Given the description of an element on the screen output the (x, y) to click on. 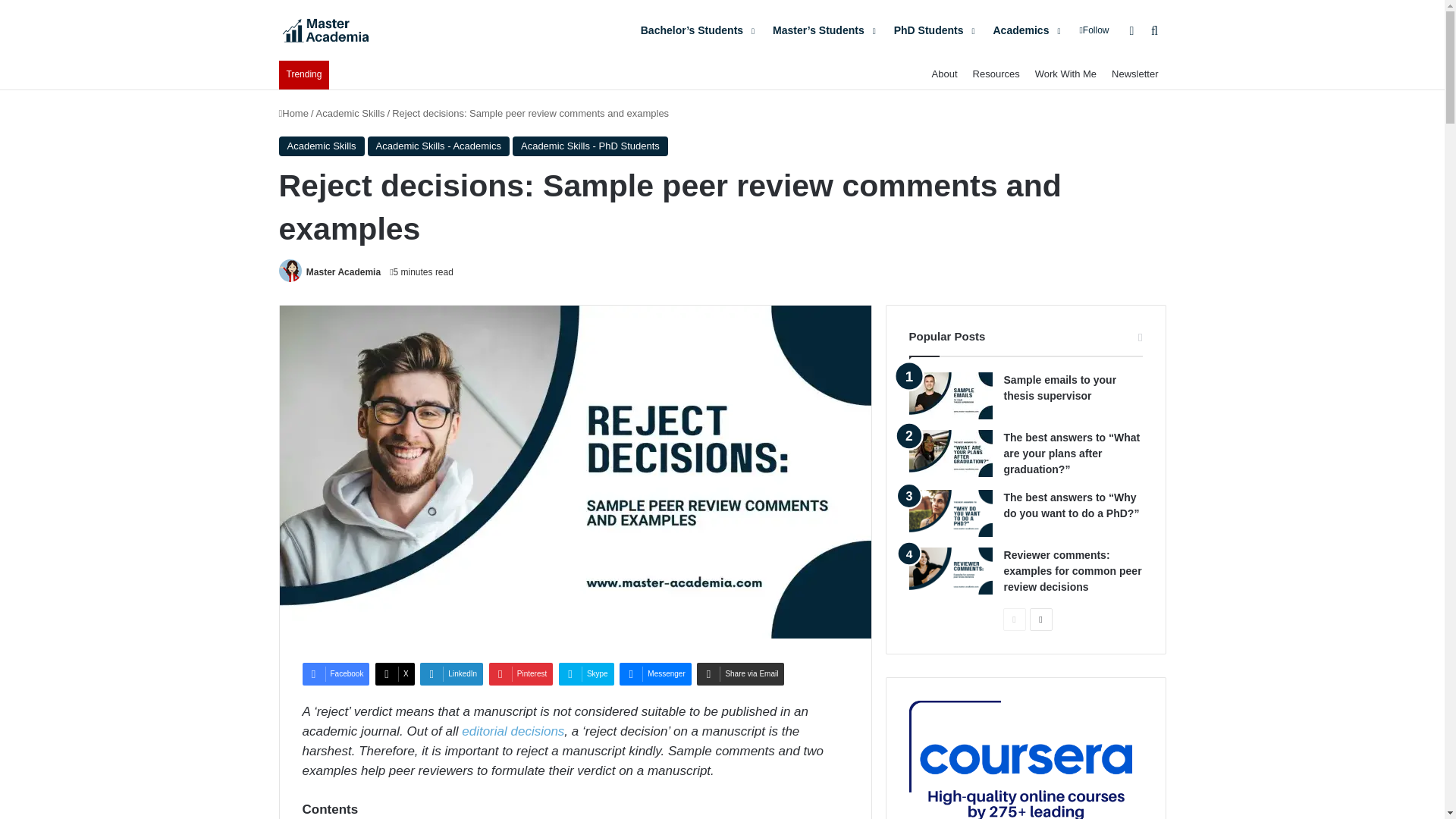
Pinterest (521, 673)
Share via Email (740, 673)
Academics (1024, 30)
Master Academia (356, 30)
X (394, 673)
Master Academia (342, 271)
Messenger (655, 673)
Skype (586, 673)
PhD Students (932, 30)
LinkedIn (451, 673)
